Given the description of an element on the screen output the (x, y) to click on. 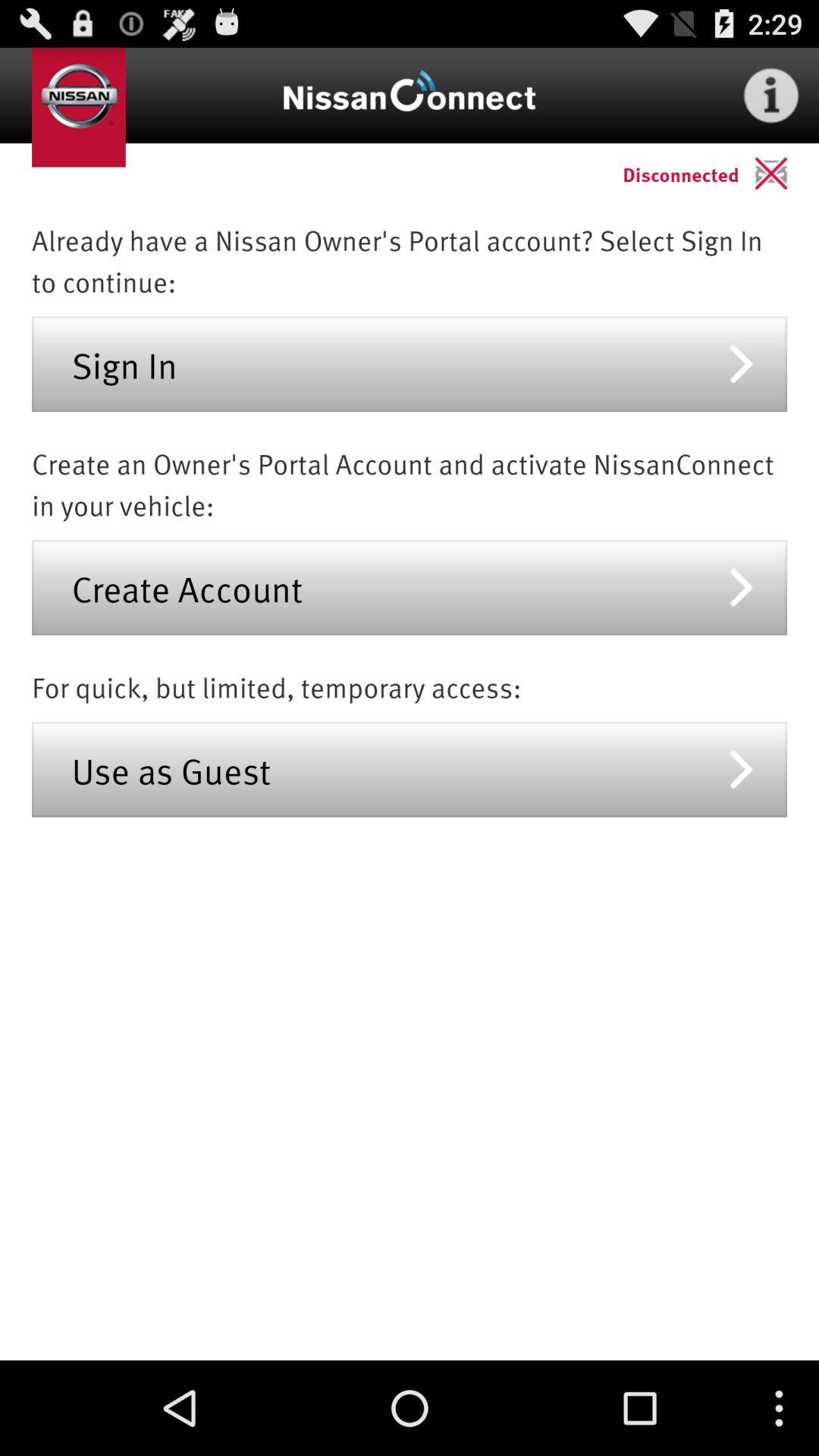
open use as guest (409, 769)
